Given the description of an element on the screen output the (x, y) to click on. 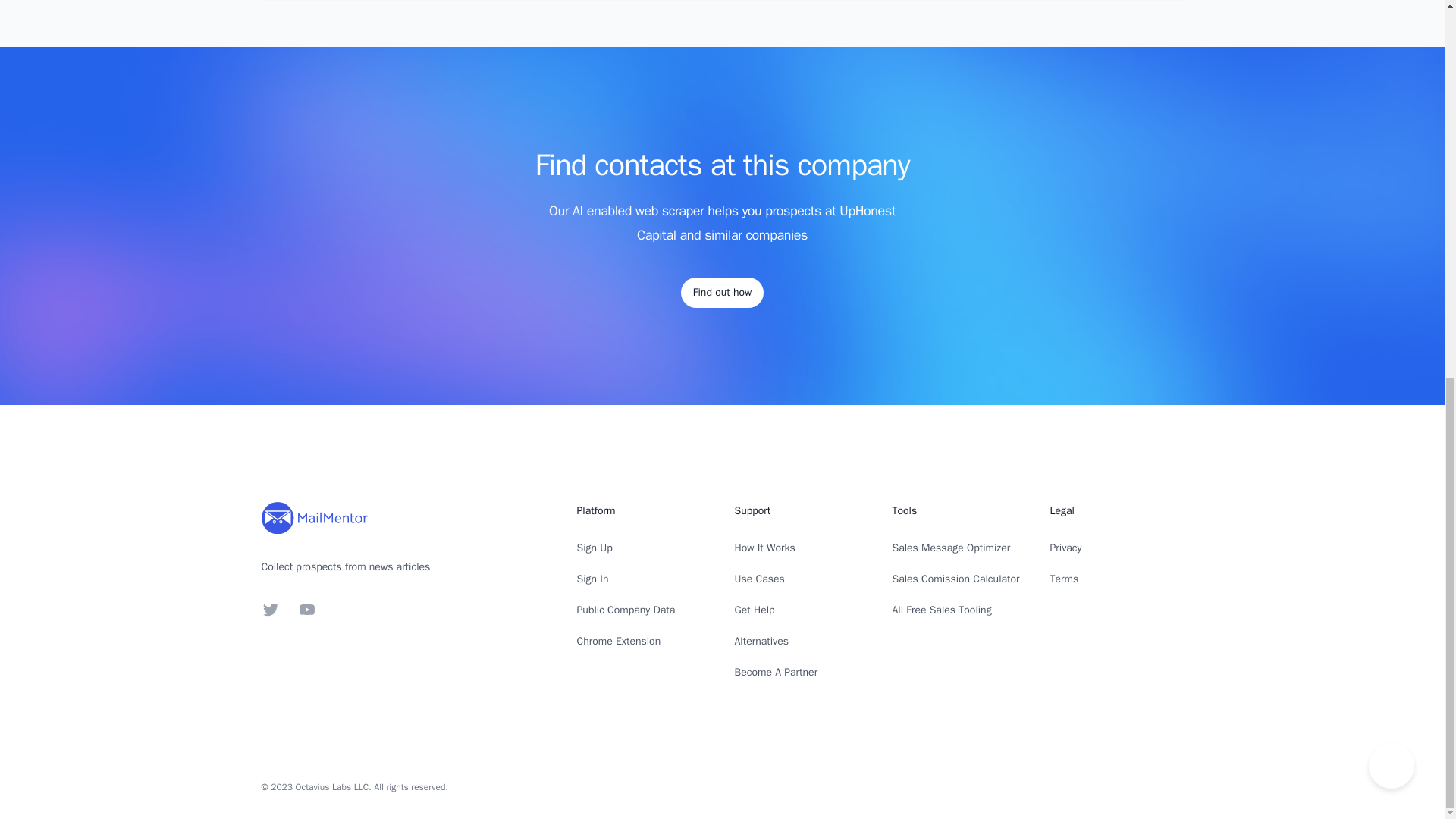
Find out how (721, 292)
Become A Partner (774, 671)
YouTube (306, 609)
Alternatives (761, 640)
How It Works (763, 547)
Sign In (592, 578)
Use Cases (758, 578)
Public Company Data (625, 609)
Chrome Extension (618, 640)
Terms (1063, 578)
